Given the description of an element on the screen output the (x, y) to click on. 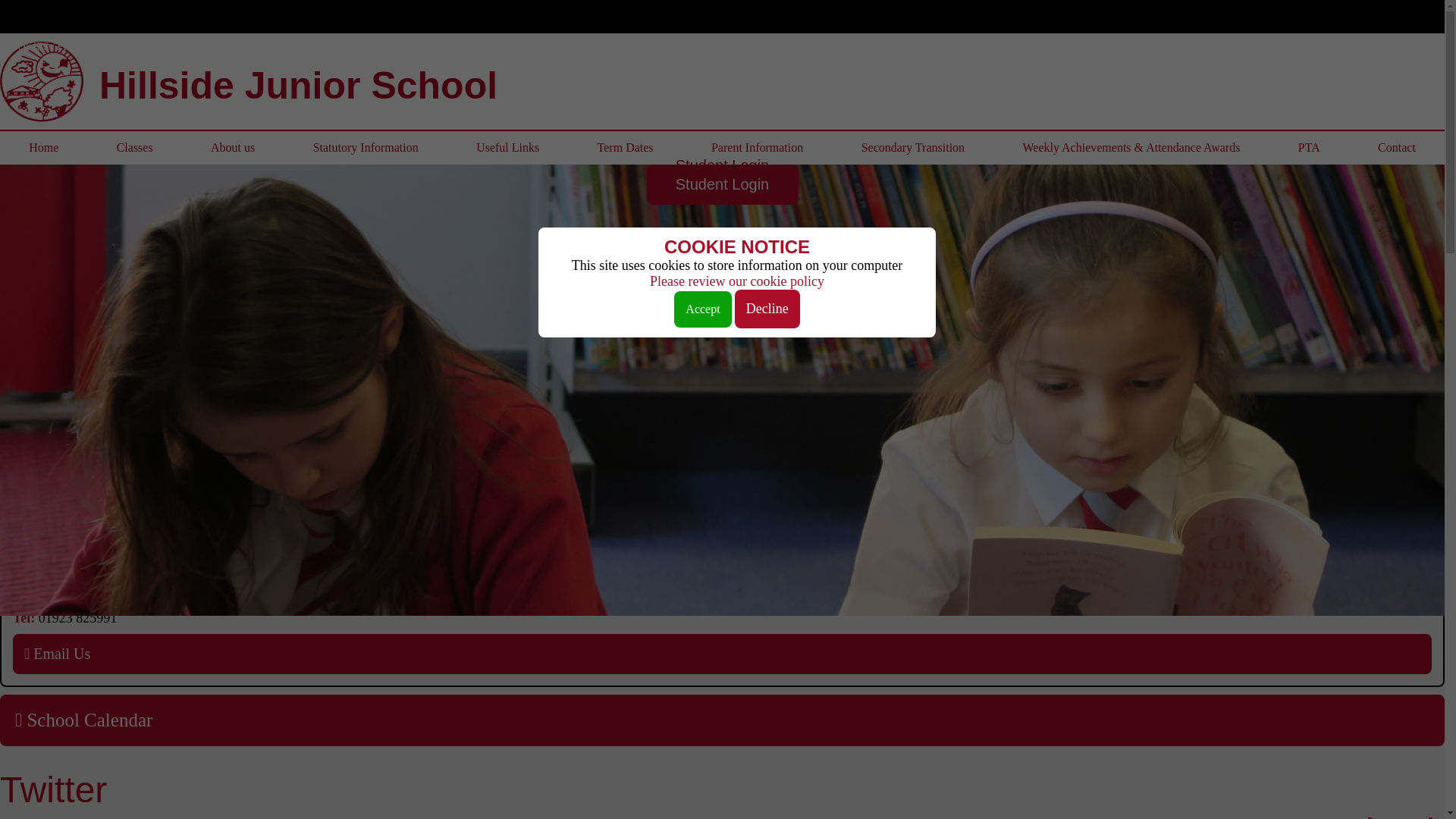
Parent Information (757, 147)
Please review our cookie policy (736, 281)
Decline (767, 308)
Statutory Information (364, 147)
About us (232, 147)
Home (43, 147)
Term Dates (624, 147)
Classes (133, 147)
Useful Links (506, 147)
